Given the description of an element on the screen output the (x, y) to click on. 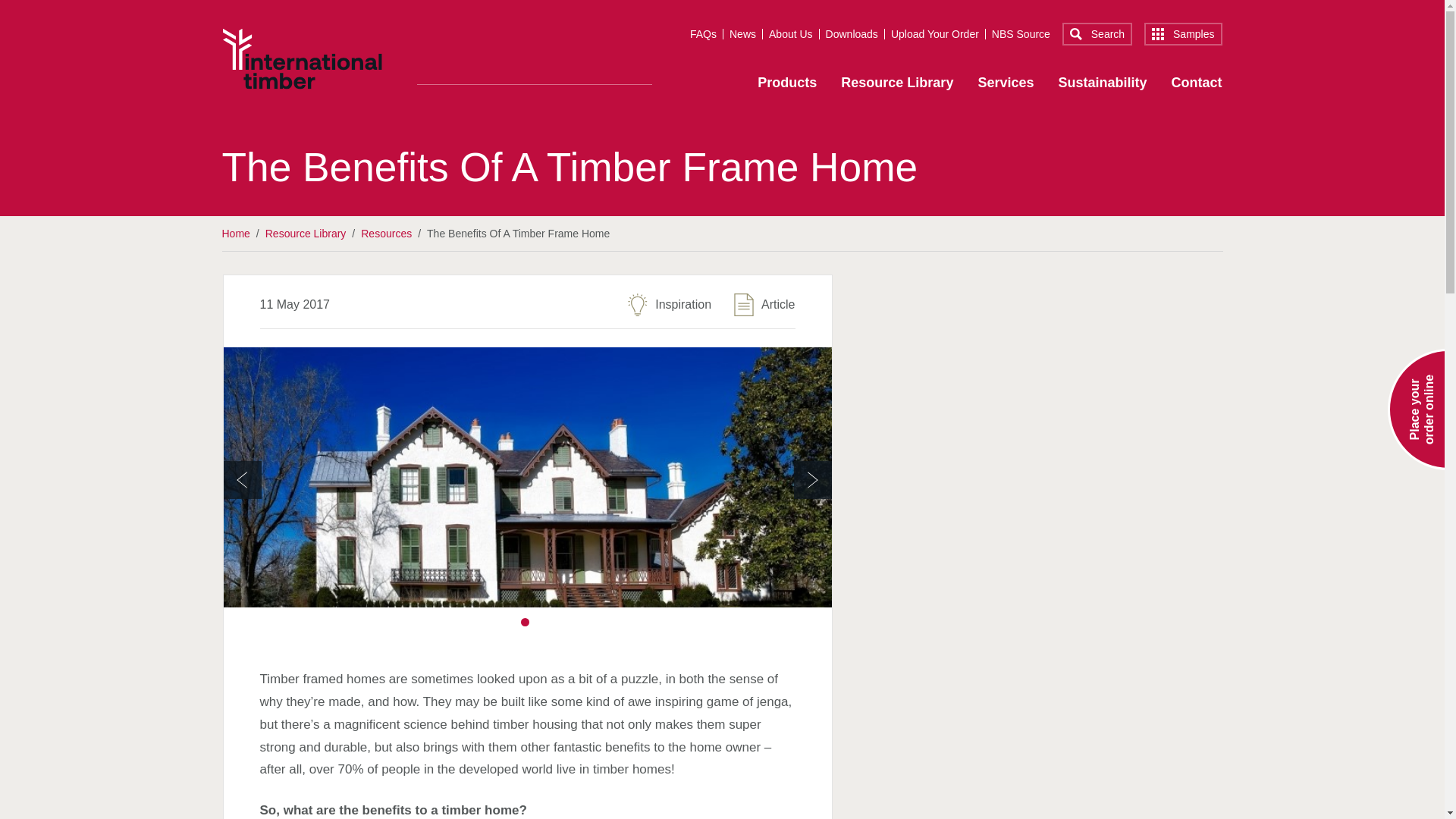
Sustainability (1102, 85)
Resources (386, 233)
News (745, 33)
Upload Your Order (938, 33)
Home (234, 233)
Samples (1182, 33)
Search (1097, 33)
The Benefits Of A Timber Frame Home (518, 233)
NBS Source (1020, 33)
Home (301, 58)
